Given the description of an element on the screen output the (x, y) to click on. 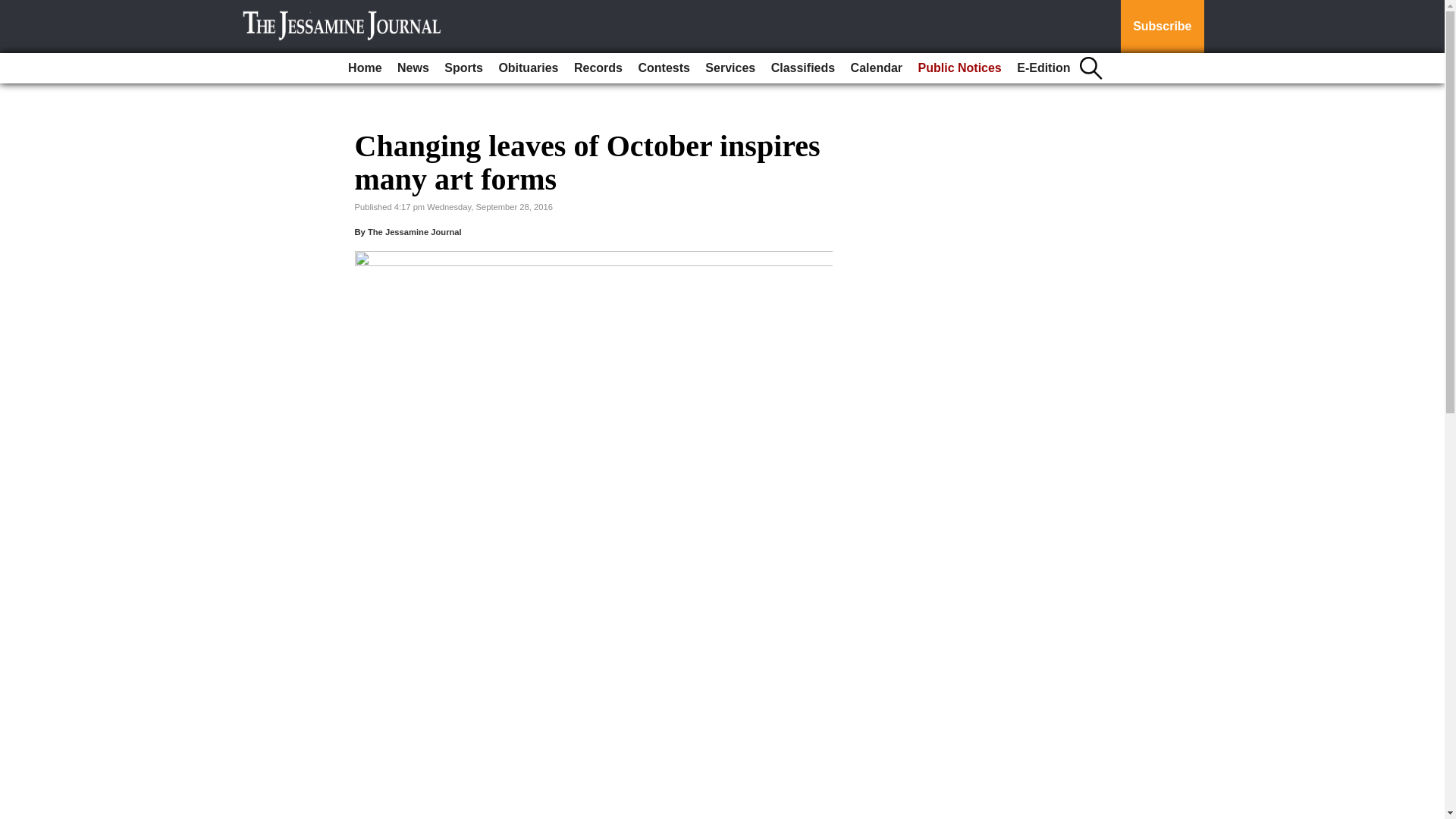
Subscribe (1162, 26)
Go (13, 9)
Home (364, 68)
Contests (663, 68)
Classifieds (803, 68)
Public Notices (959, 68)
The Jessamine Journal (414, 231)
Calendar (876, 68)
Obituaries (528, 68)
E-Edition (1042, 68)
